Given the description of an element on the screen output the (x, y) to click on. 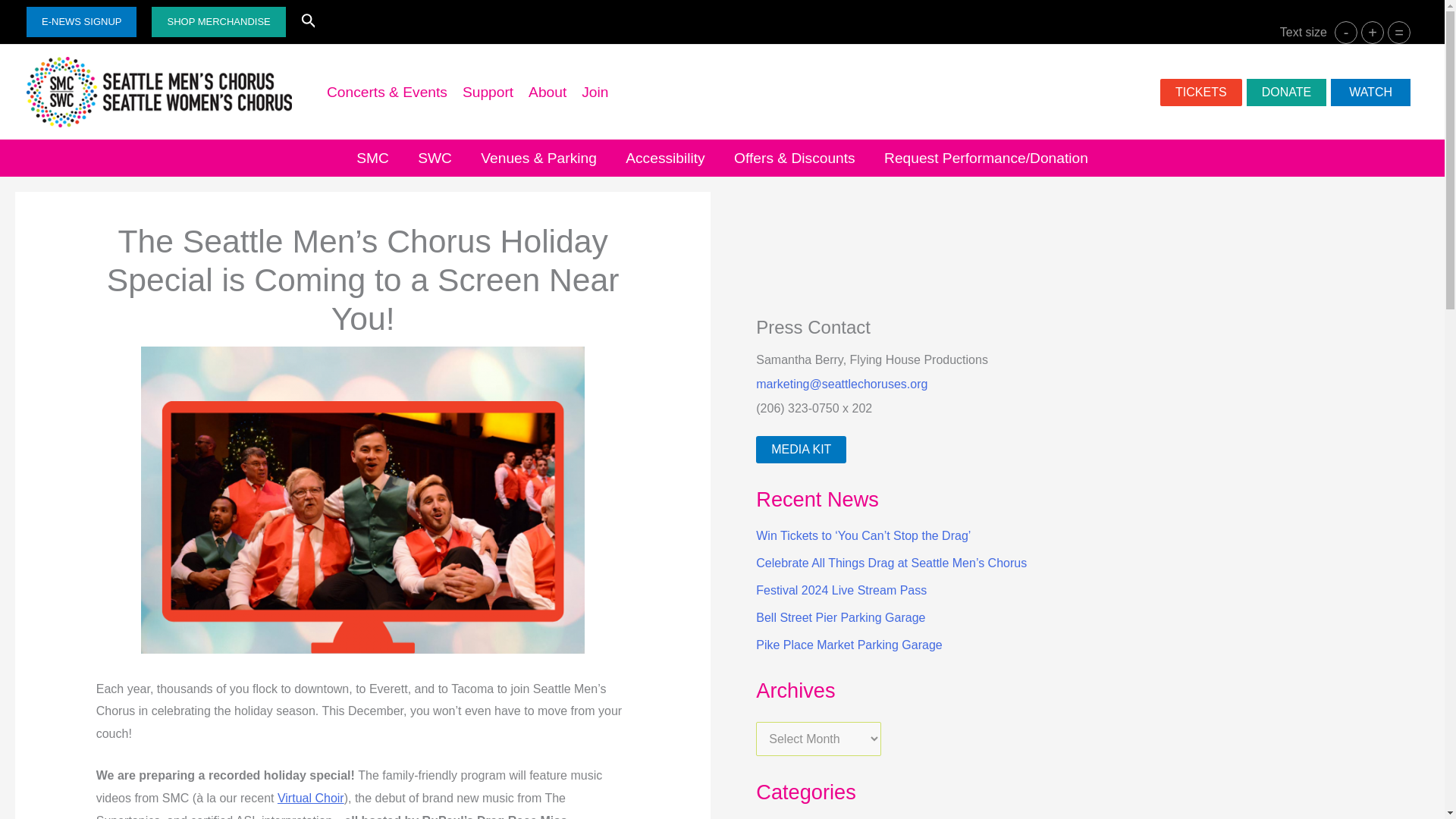
Reset text size (1398, 32)
TICKETS (1200, 92)
WATCH (1370, 92)
Accessibility (665, 157)
SMC (372, 157)
SHOP MERCHANDISE (218, 21)
DONATE (1286, 92)
Decrease text size (1345, 32)
Support (487, 92)
SWC (434, 157)
